Given the description of an element on the screen output the (x, y) to click on. 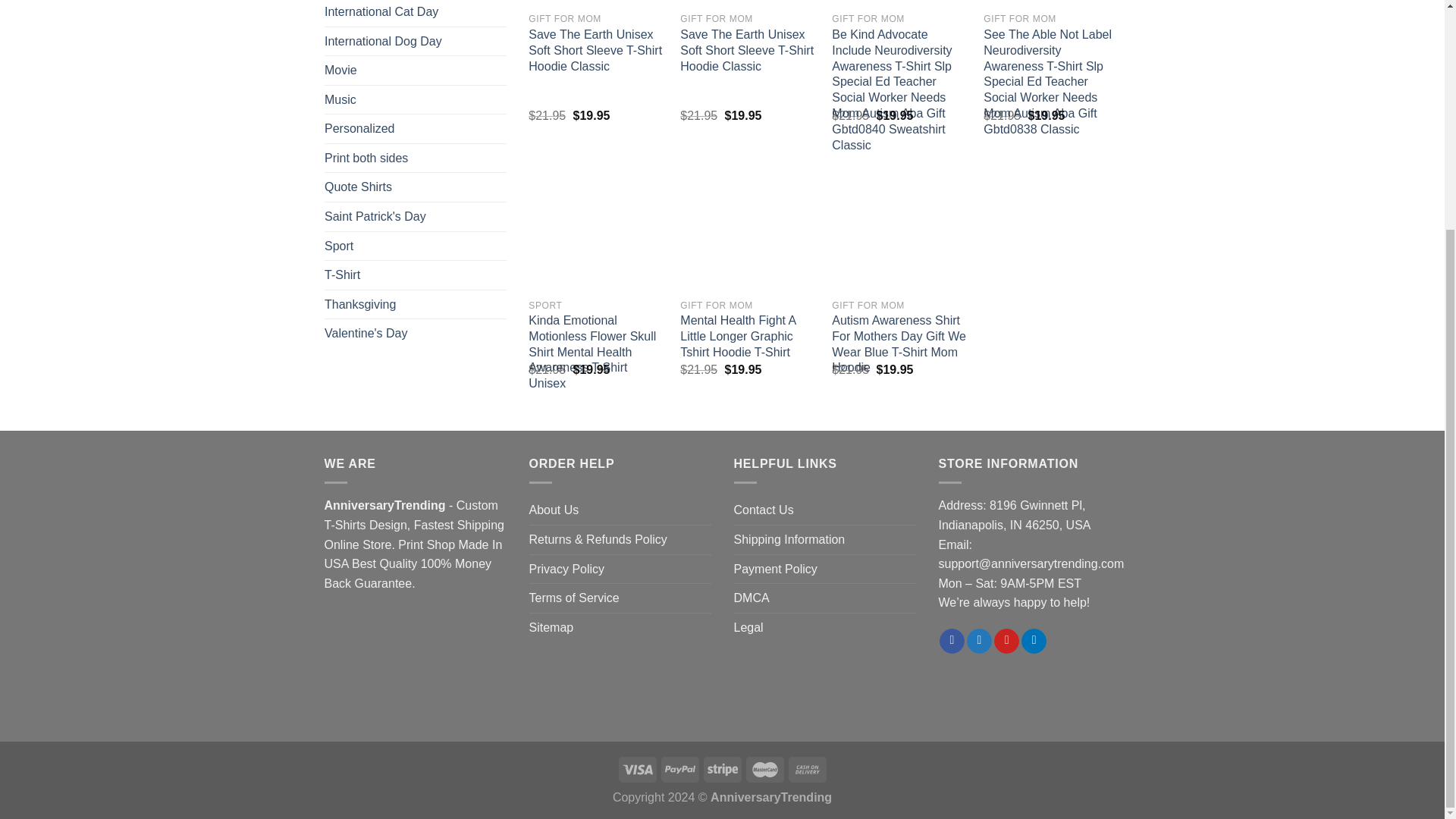
Thanksgiving (415, 303)
Follow on LinkedIn (1034, 641)
Follow on Twitter (978, 641)
Print both sides (415, 158)
Movie (415, 70)
Saint Patrick's Day (415, 216)
Personalized (415, 128)
Follow on Pinterest (1006, 641)
Sport (415, 245)
Music (415, 99)
